Given the description of an element on the screen output the (x, y) to click on. 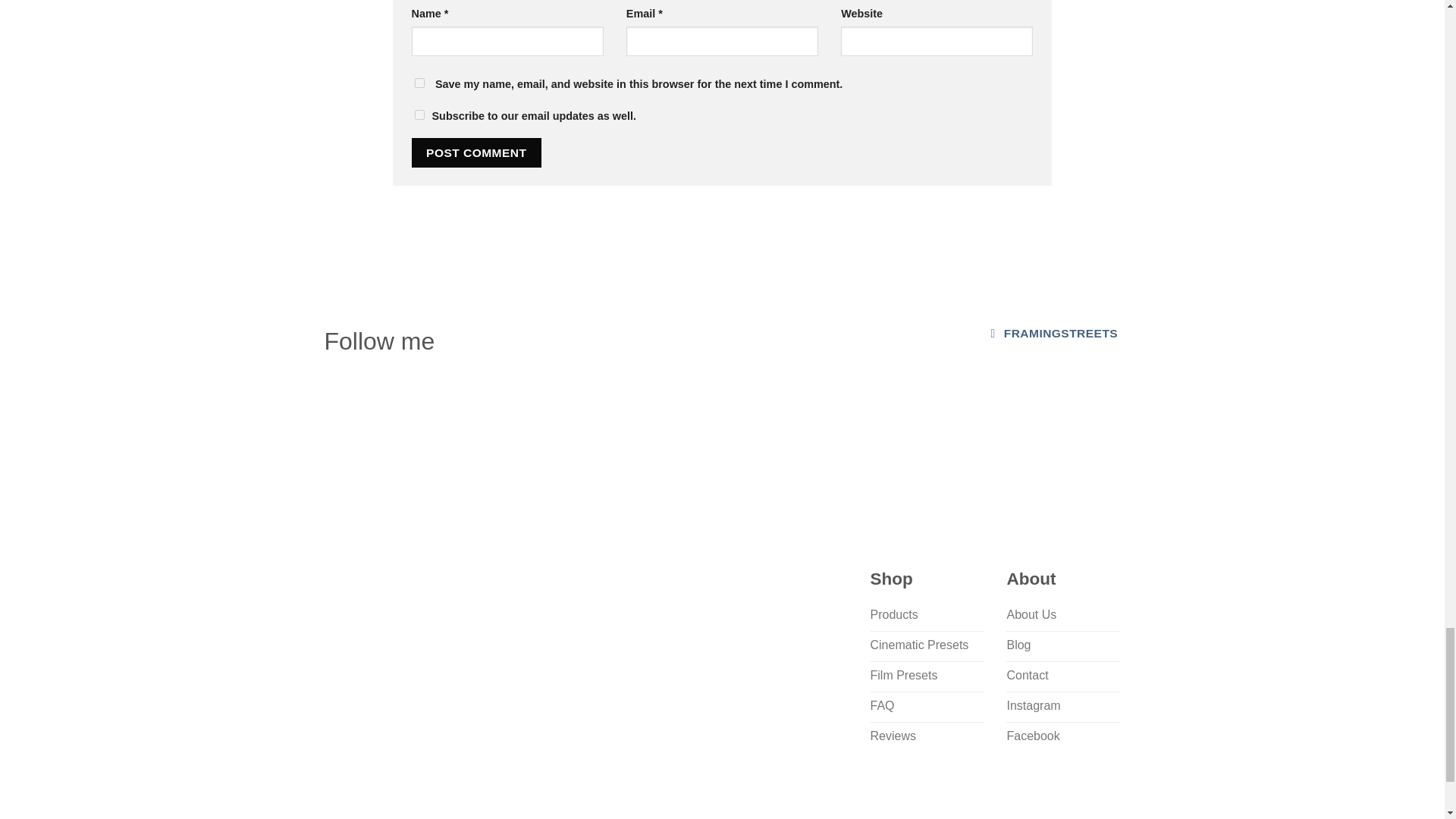
Post Comment (475, 152)
yes (418, 114)
yes (418, 82)
